Given the description of an element on the screen output the (x, y) to click on. 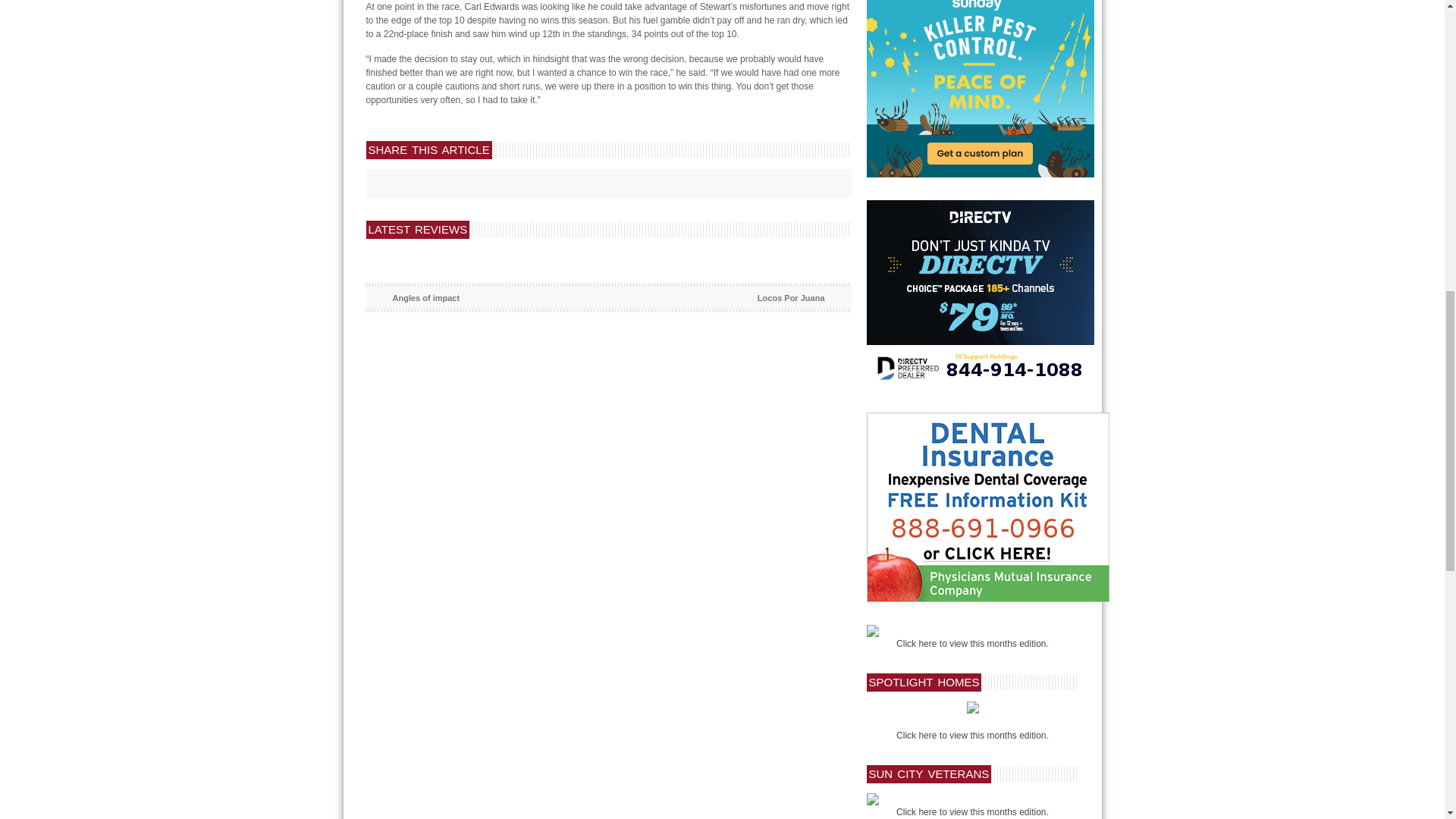
Click here to view this months edition. (972, 643)
Click here to view this months edition. (972, 735)
Locos Por Juana (791, 297)
Click here to view this months edition. (972, 811)
